Given the description of an element on the screen output the (x, y) to click on. 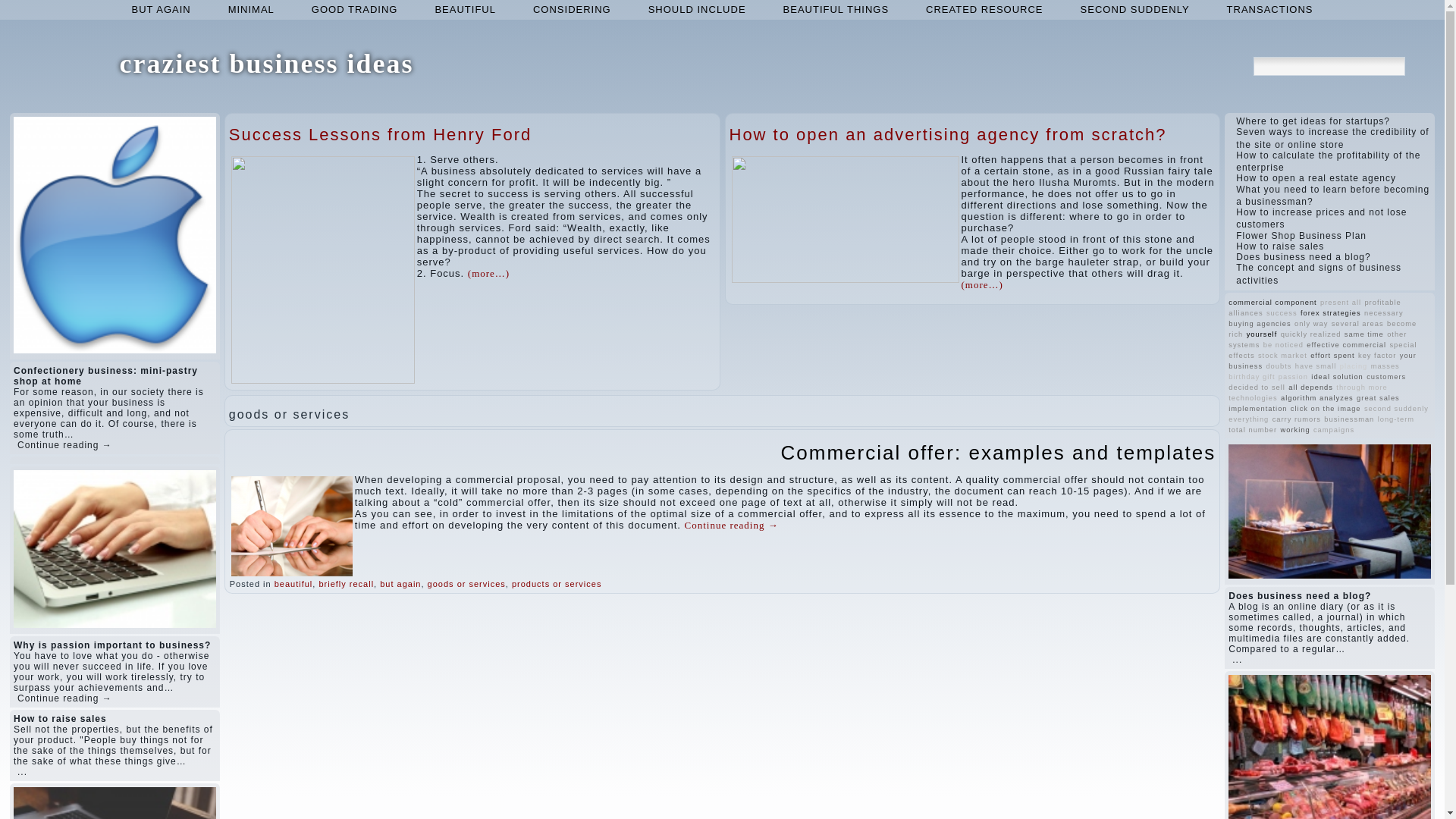
Where to get ideas for startups? (1313, 121)
commercial component (1272, 302)
but again (161, 9)
SHOULD INCLUDE (696, 9)
craziest business ideas (266, 63)
CONSIDERING (571, 9)
CREATED RESOURCE (983, 9)
Commercial offer: examples and templates (997, 452)
beautiful (294, 583)
How to open a real estate agency (1316, 177)
TRANSACTIONS (1269, 9)
Does business need a blog? (1303, 256)
BUT AGAIN (161, 9)
Commercial offer: examples and templates (997, 452)
